Given the description of an element on the screen output the (x, y) to click on. 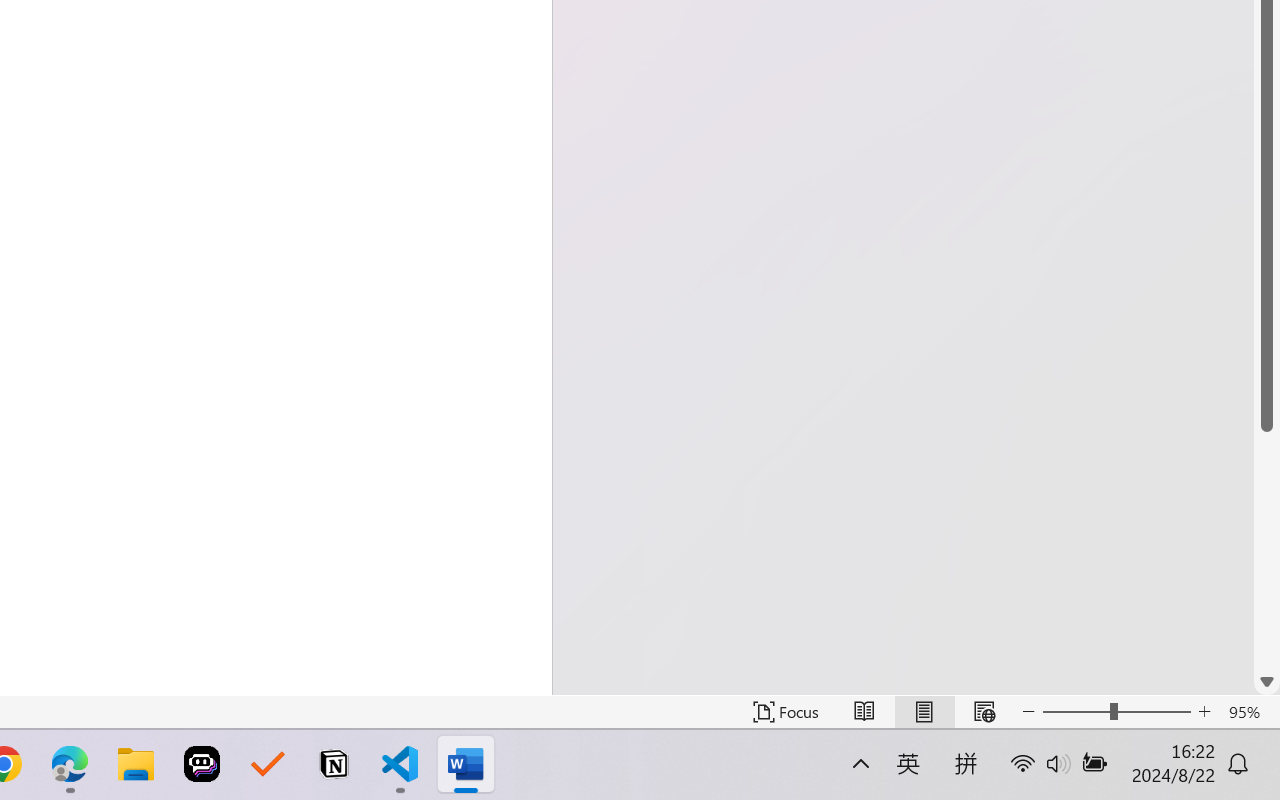
Zoom 139% (1234, 743)
